Given the description of an element on the screen output the (x, y) to click on. 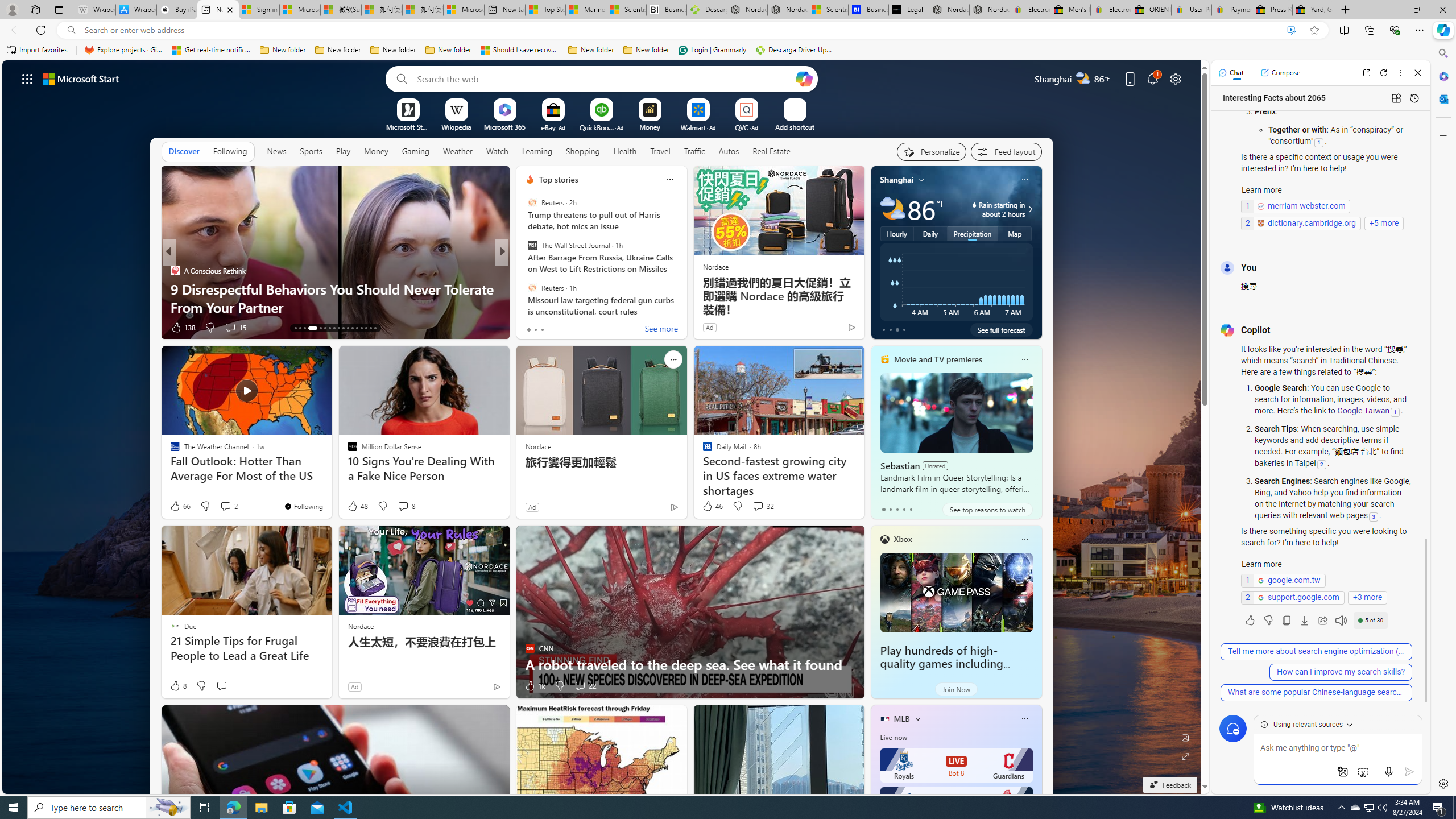
AutomationID: tab-34 (361, 328)
View comments 32 Comment (762, 505)
Shanghai (896, 179)
You're following The Weather Channel (303, 505)
water-drop-icon (974, 204)
Partly cloudy (892, 208)
Should I save recovered Word documents? - Microsoft Support (519, 49)
View comments 22 Comment (579, 685)
Expand background (1185, 756)
